Given the description of an element on the screen output the (x, y) to click on. 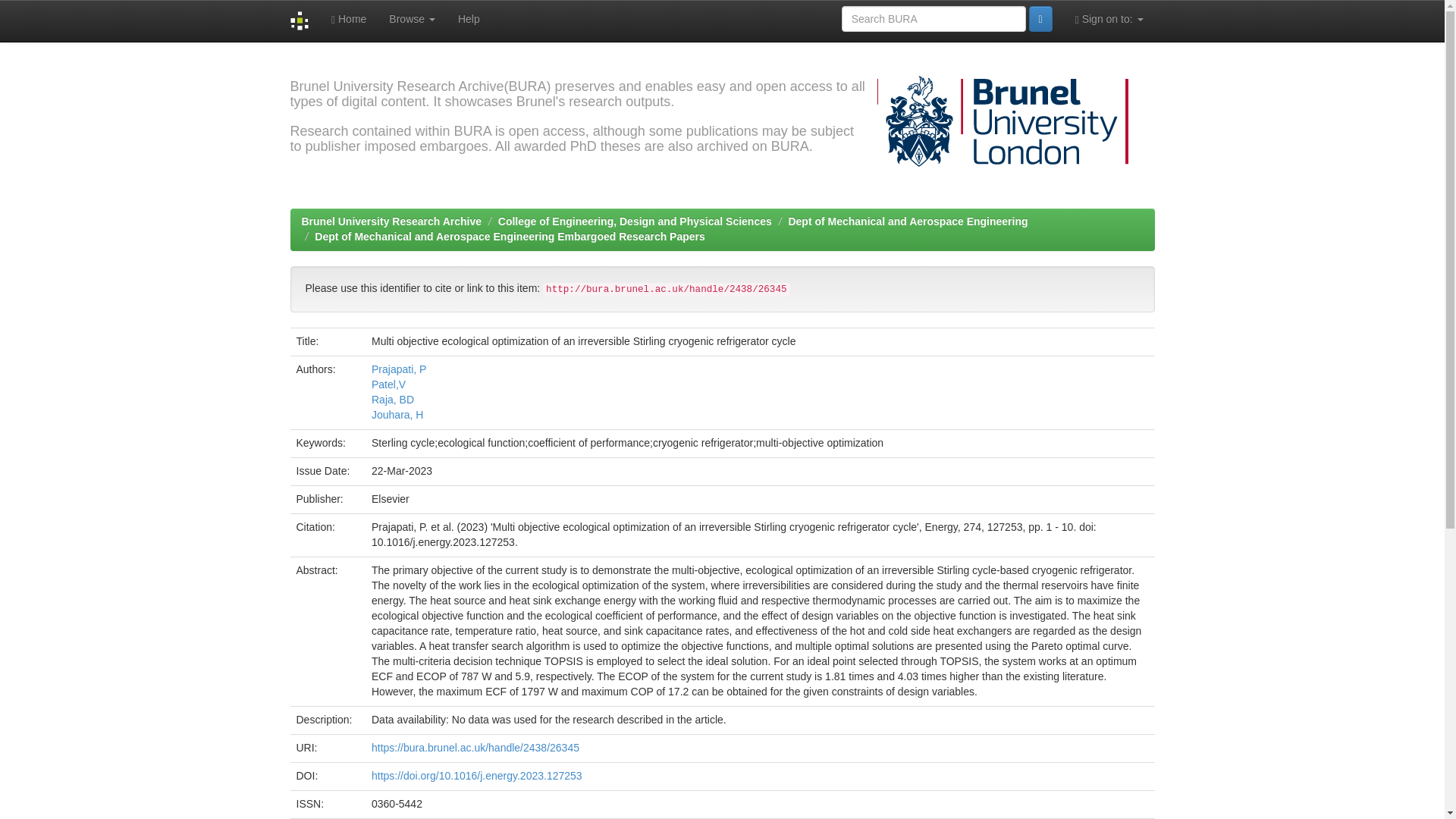
Jouhara, H (397, 414)
Browse (411, 18)
Raja, BD (392, 399)
Dept of Mechanical and Aerospace Engineering (907, 221)
College of Engineering, Design and Physical Sciences (634, 221)
Sign on to: (1109, 18)
Prajapati, P (398, 369)
Patel,V (388, 384)
Help (469, 18)
Home (348, 18)
Brunel University Research Archive (391, 221)
